Given the description of an element on the screen output the (x, y) to click on. 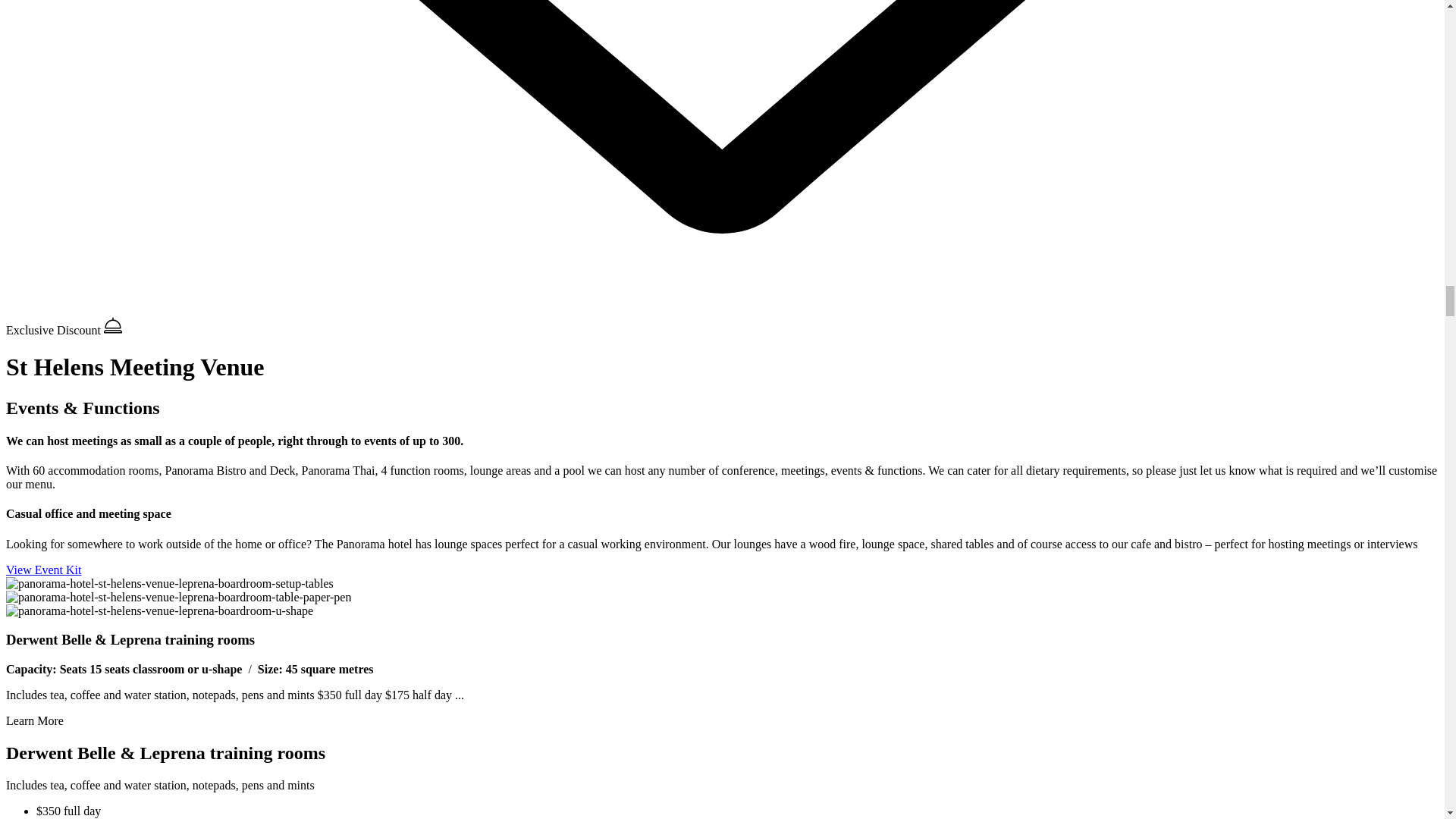
View Event Kit (43, 569)
Learn More (34, 720)
